Given the description of an element on the screen output the (x, y) to click on. 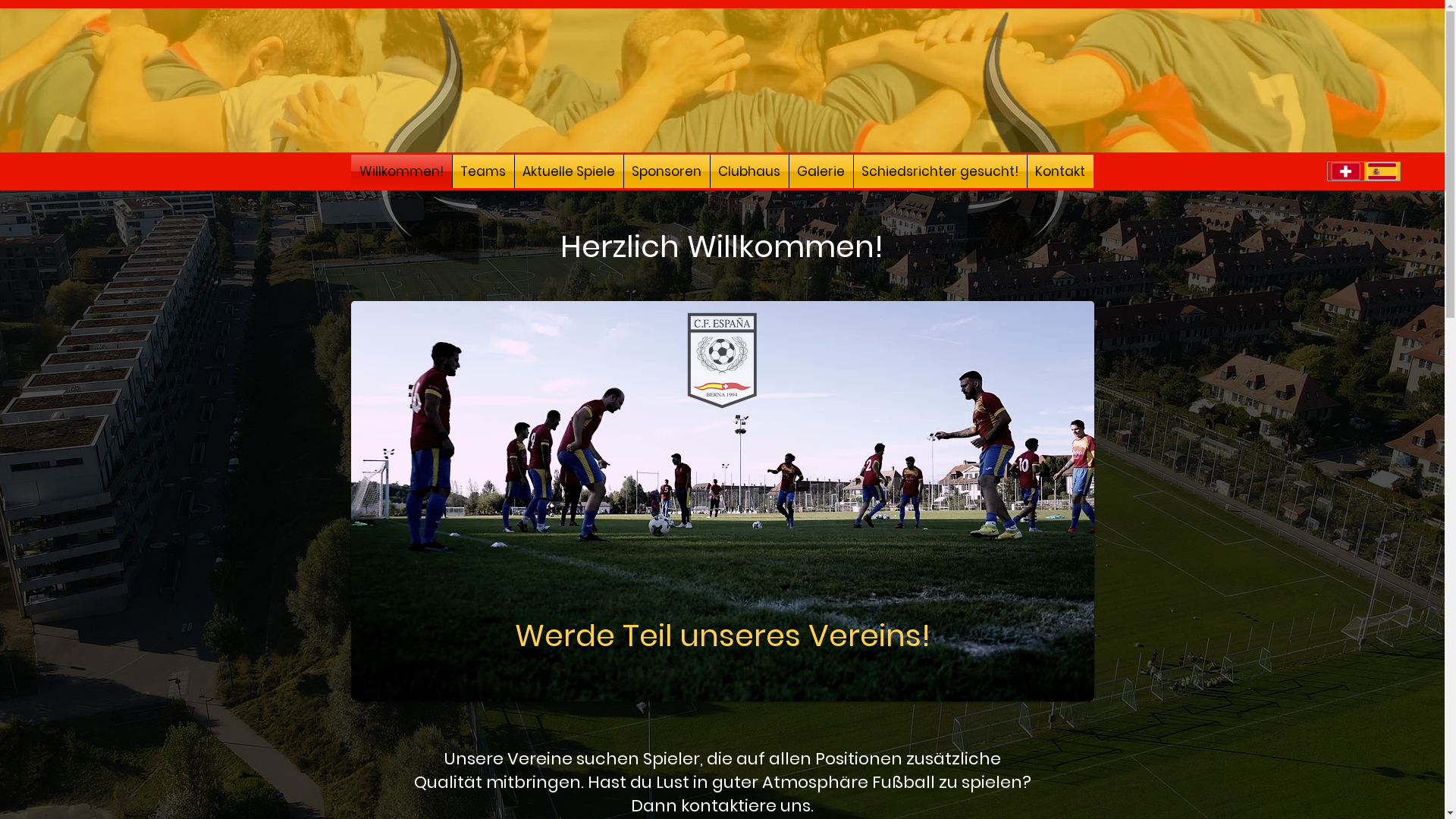
Kontakt Element type: text (1059, 171)
Willkommen! Element type: text (400, 171)
Schiedsrichter gesucht! Element type: text (939, 171)
Clubhaus Element type: text (748, 171)
Werde Teil unseres Vereins! Element type: text (721, 635)
Herzlich Willkommen! Element type: text (720, 246)
Sponsoren Element type: text (666, 171)
Aktuelle Spiele Element type: text (568, 171)
Galerie Element type: text (820, 171)
